Given the description of an element on the screen output the (x, y) to click on. 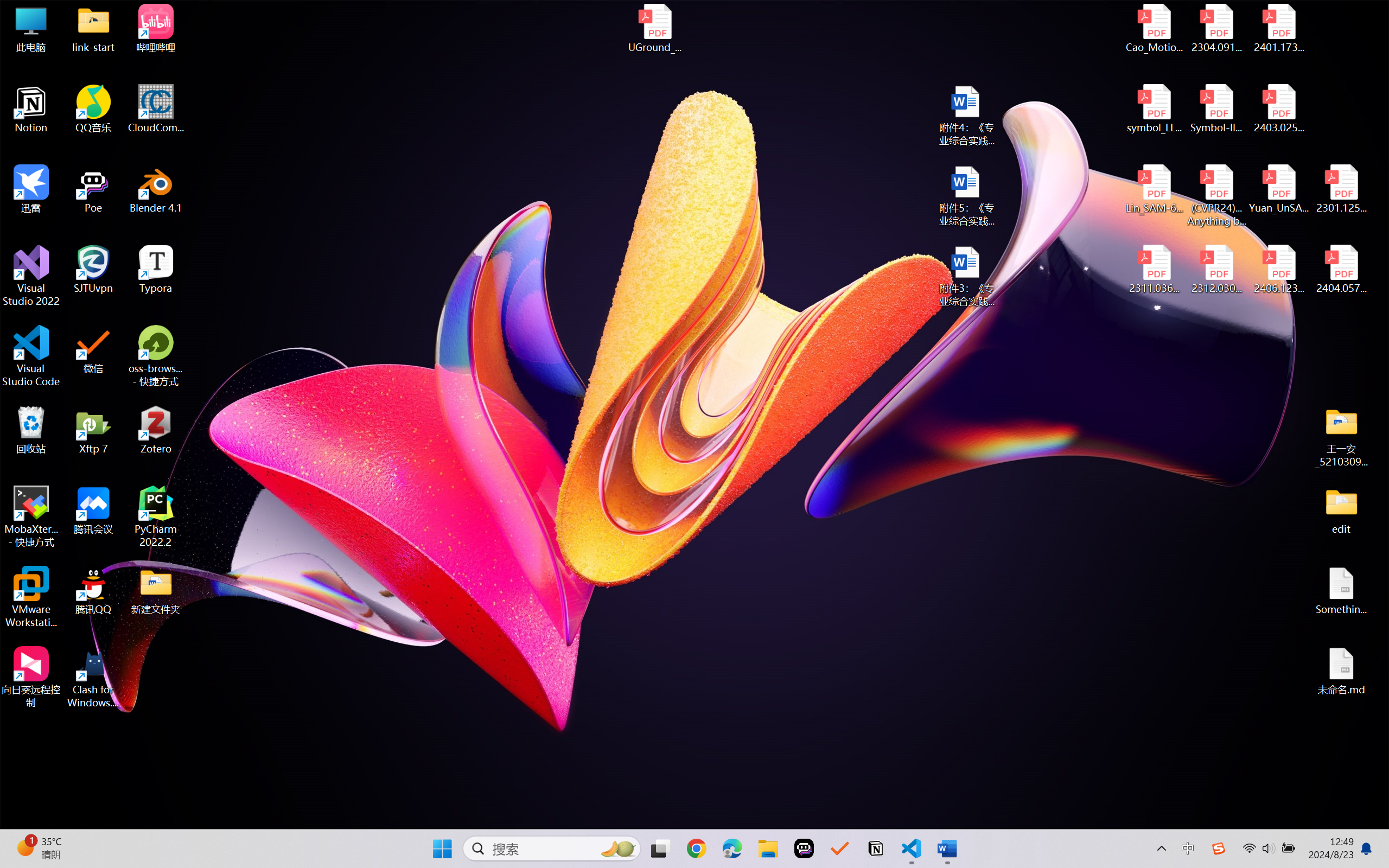
Chrome Web Store - Color themes by Chrome (766, 12)
PDD Holdings Inc - ADR (PDD) Price & News - Google Finance (284, 12)
November 15, 2023 (534, 470)
Atour Hotel - Google hotels (645, 12)
New Tab (1168, 12)
Turn cookies on or off - Computer - Google Account Help (1087, 12)
Sign in - Google Accounts (1007, 12)
Google Account Help (1047, 12)
